Given the description of an element on the screen output the (x, y) to click on. 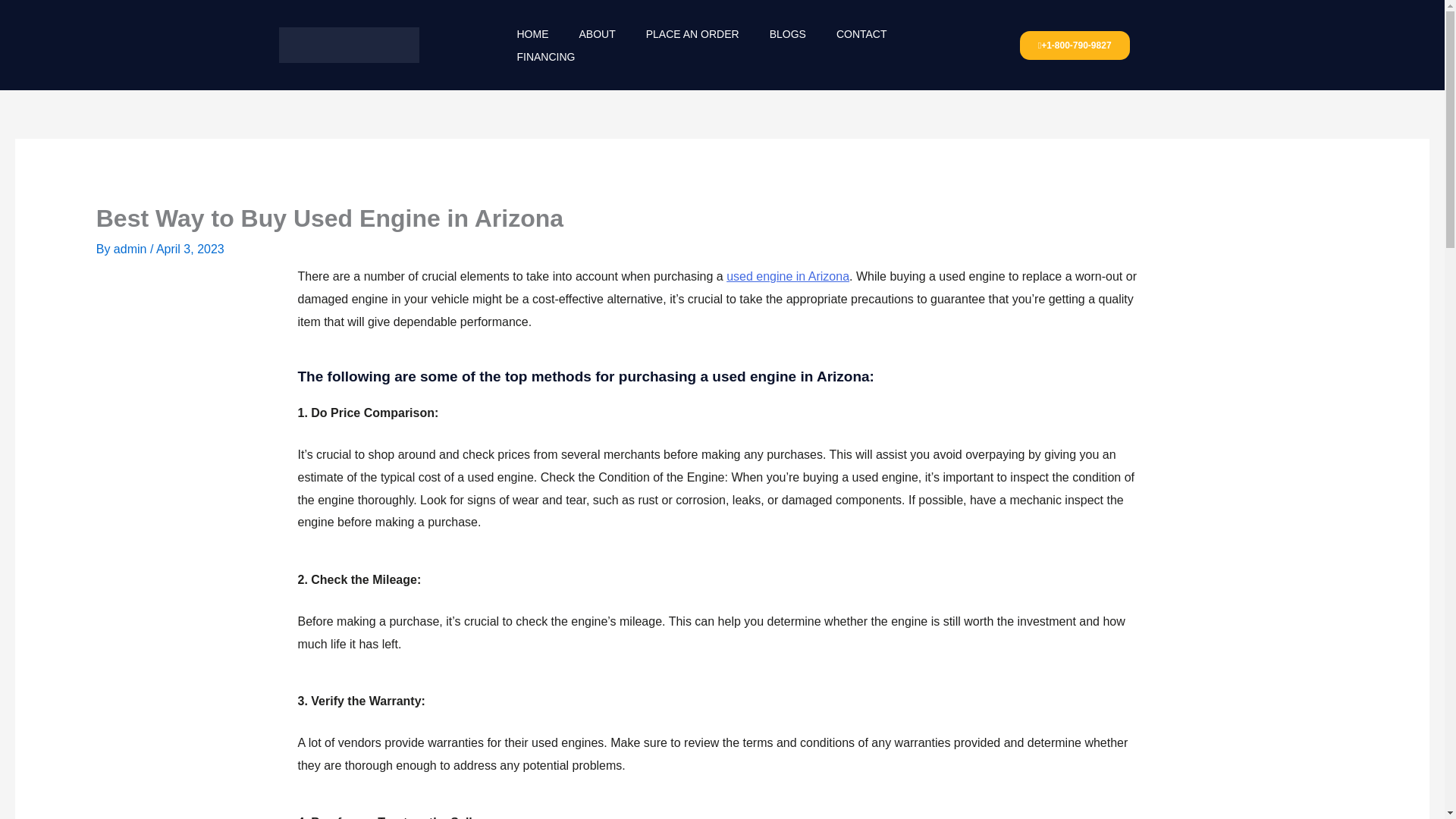
View all posts by admin (131, 248)
BLOGS (787, 34)
admin (131, 248)
FINANCING (544, 56)
CONTACT (861, 34)
HOME (531, 34)
ABOUT (596, 34)
used engine in Arizona (787, 276)
PLACE AN ORDER (692, 34)
